Given the description of an element on the screen output the (x, y) to click on. 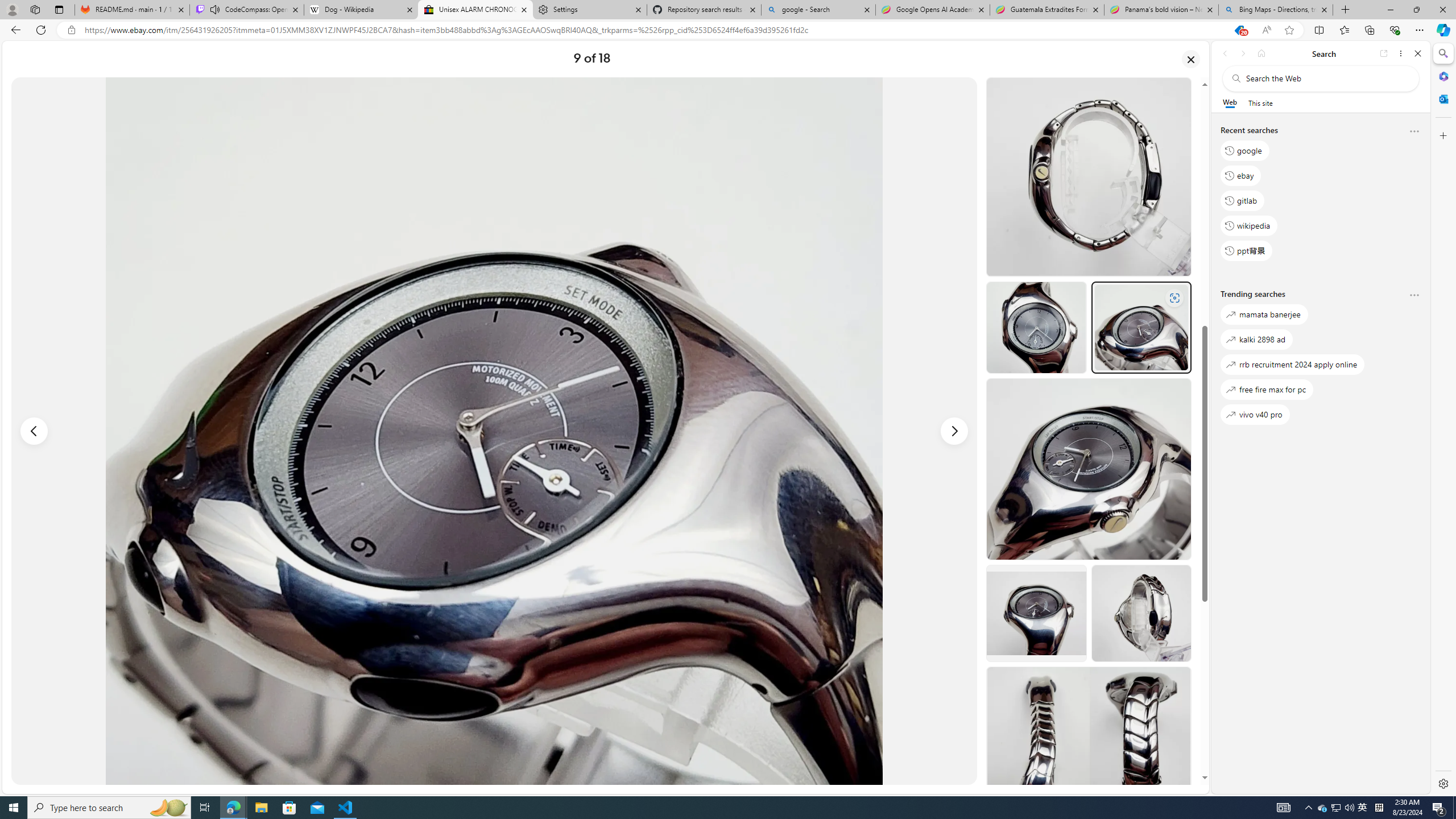
kalki 2898 ad (1256, 339)
